Given the description of an element on the screen output the (x, y) to click on. 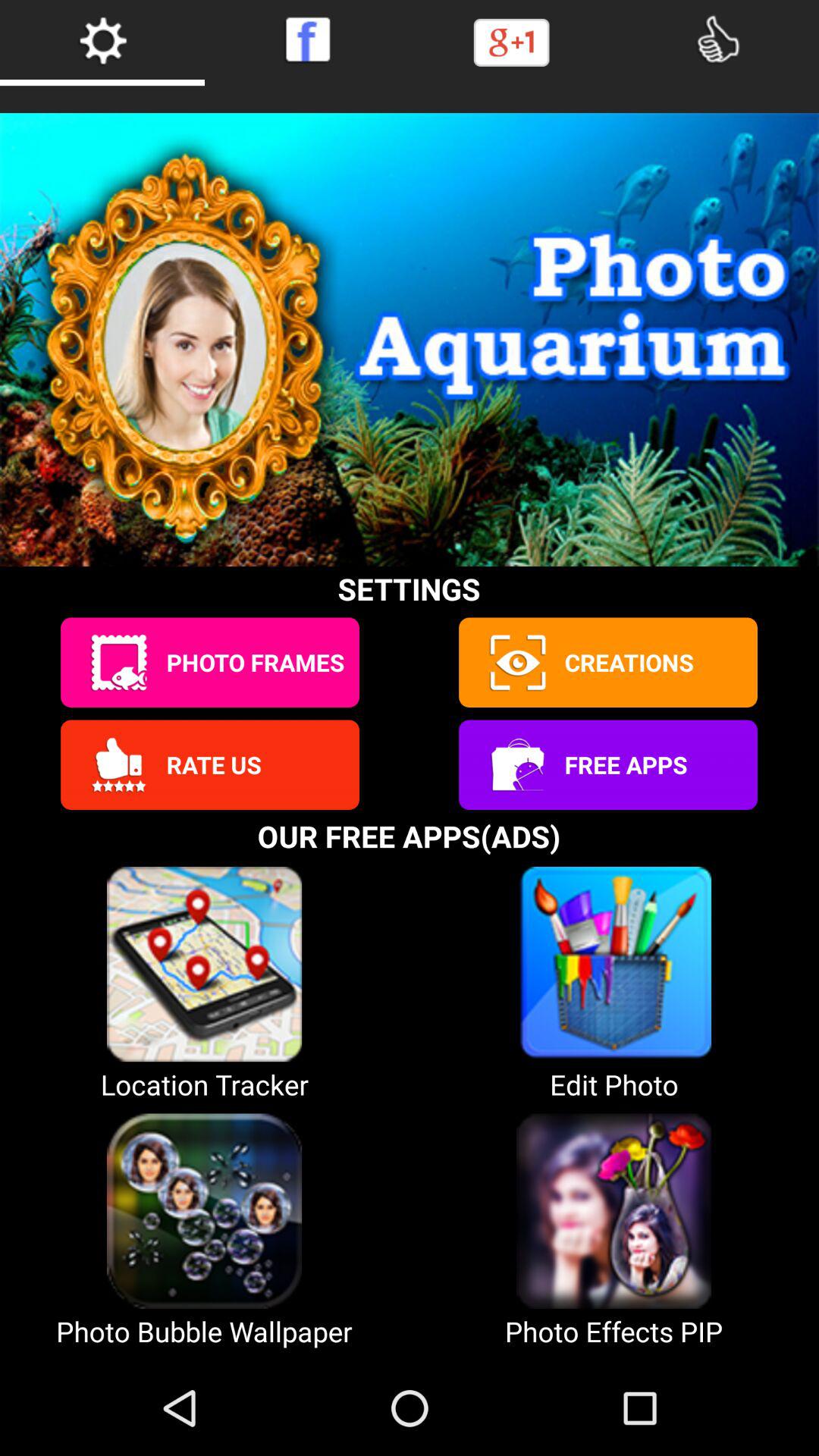
give app a rating (118, 764)
